Given the description of an element on the screen output the (x, y) to click on. 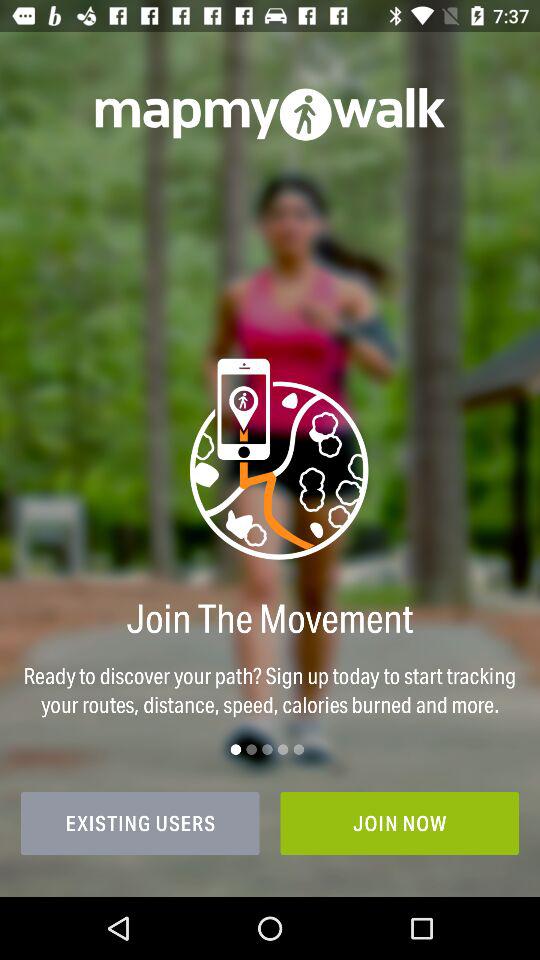
launch icon at the bottom left corner (140, 823)
